Given the description of an element on the screen output the (x, y) to click on. 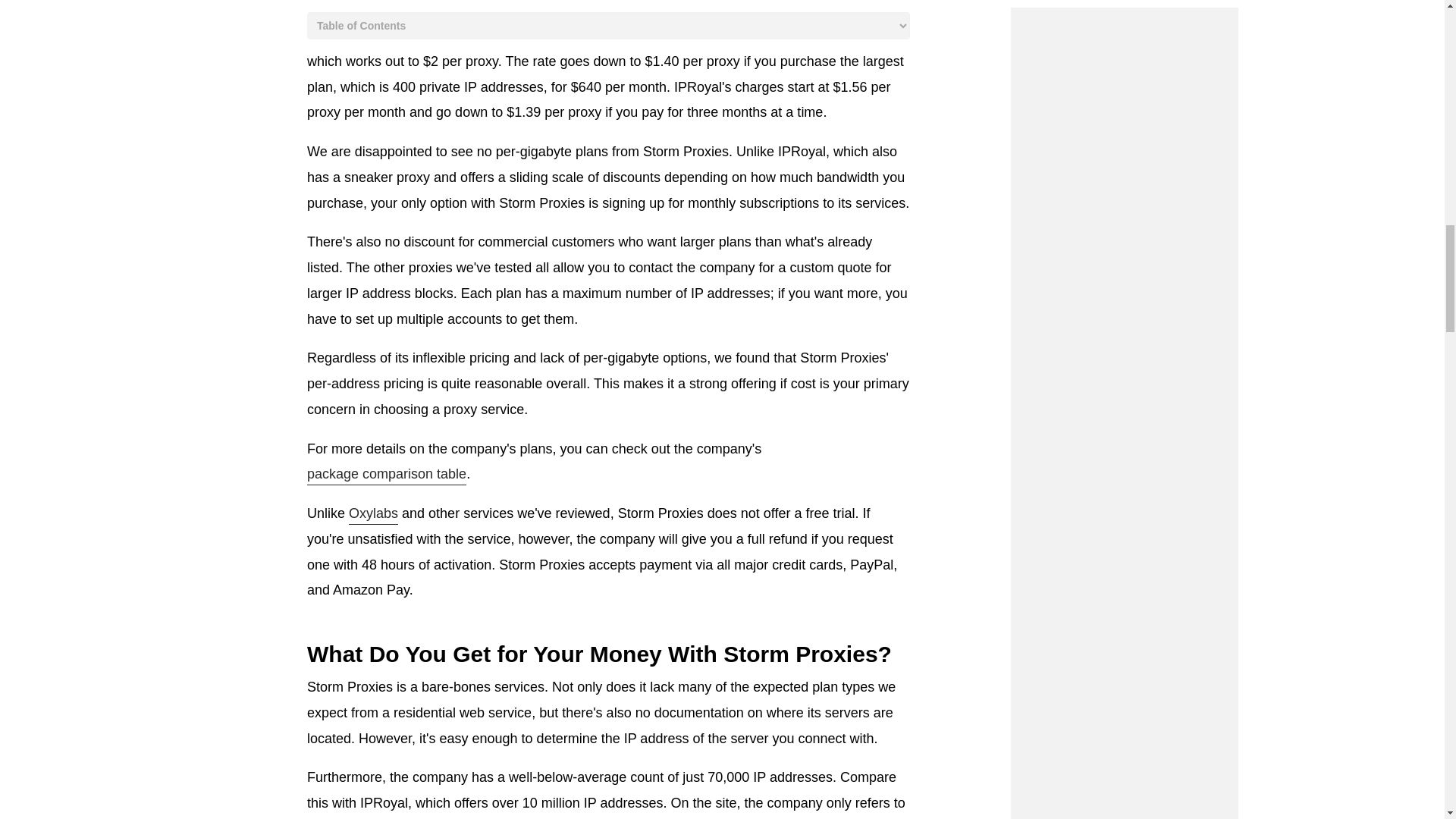
Oxylabs (373, 514)
package comparison table (386, 475)
